Given the description of an element on the screen output the (x, y) to click on. 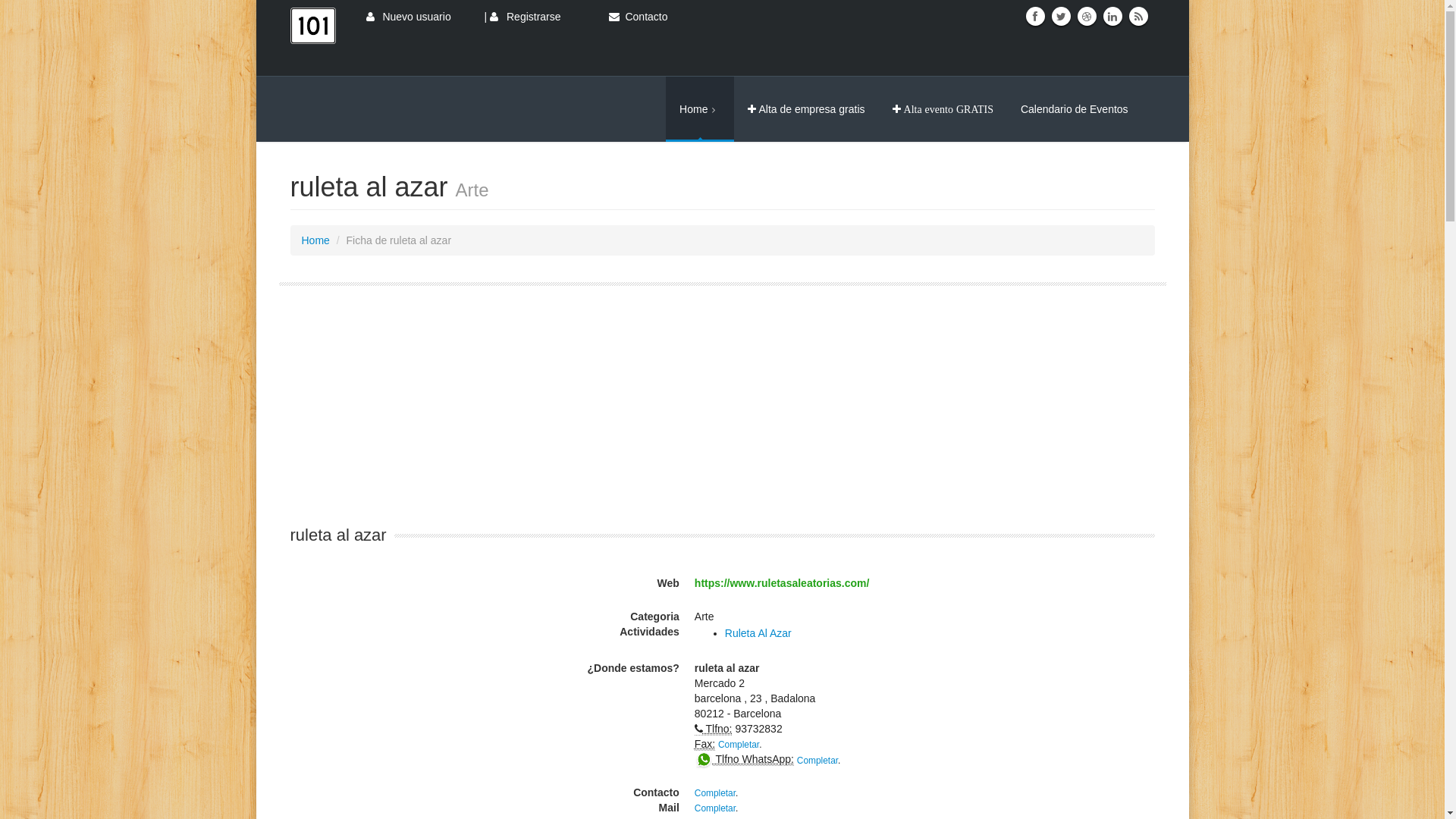
Completar Element type: text (817, 759)
Calendario de Eventos Element type: text (1080, 108)
Completar Element type: text (714, 792)
Home Element type: text (699, 108)
twitter Element type: hover (1061, 16)
Alta de empresa gratis Element type: text (806, 108)
Registrarse Element type: text (524, 16)
Advertisement Element type: hover (678, 418)
Contacto Element type: text (630, 16)
https://www.ruletasaleatorias.com/ Element type: text (781, 583)
linkedin 101Empresas Element type: hover (1112, 16)
Completar Element type: text (738, 744)
facebook Element type: hover (1034, 16)
Ruleta Al Azar Element type: text (757, 633)
Completar Element type: text (714, 808)
Nuevo usuario Element type: text (407, 16)
Alta evento GRATIS Element type: text (942, 108)
Home Element type: text (315, 240)
